Given the description of an element on the screen output the (x, y) to click on. 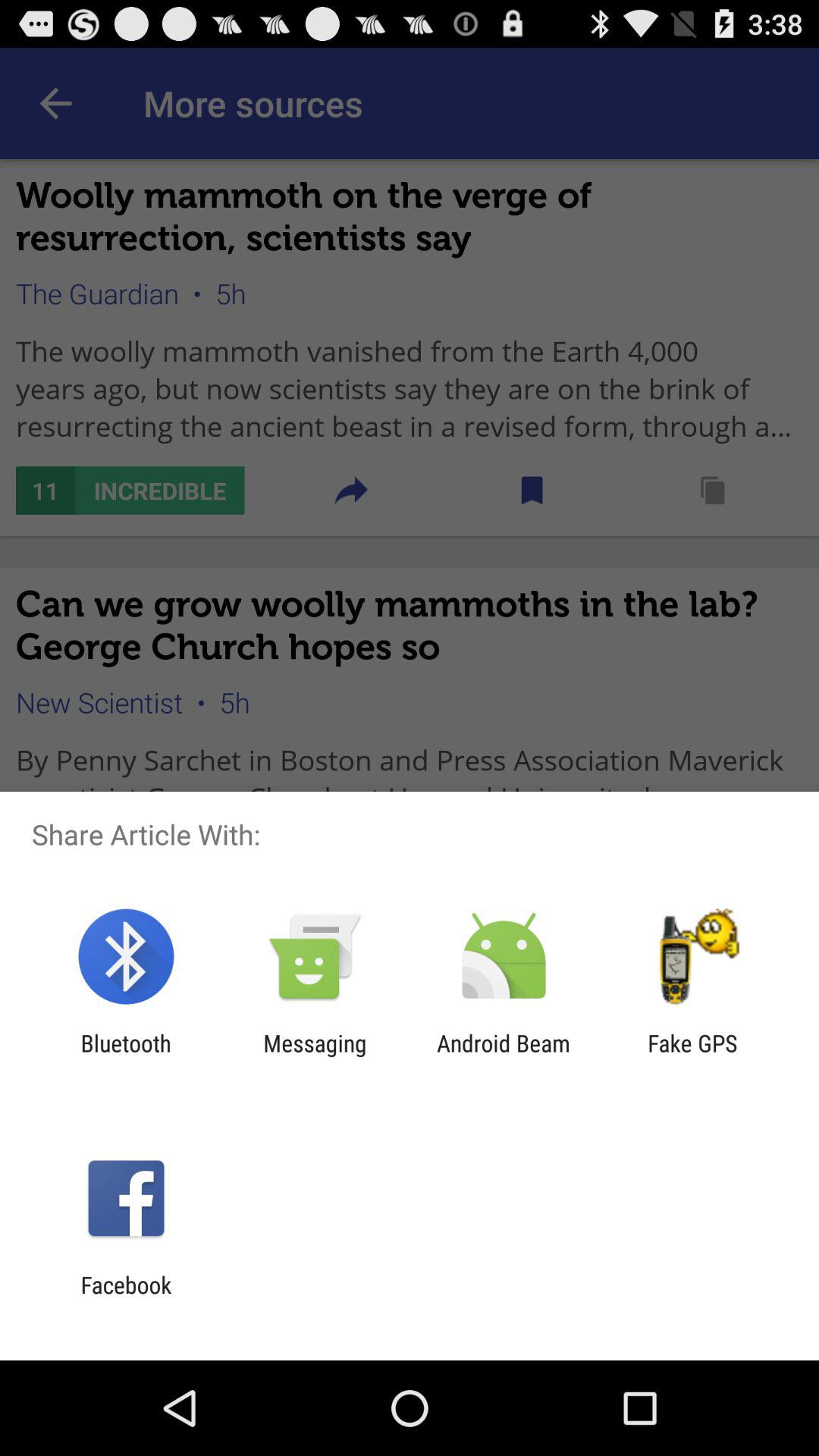
launch the icon next to the bluetooth (314, 1056)
